Given the description of an element on the screen output the (x, y) to click on. 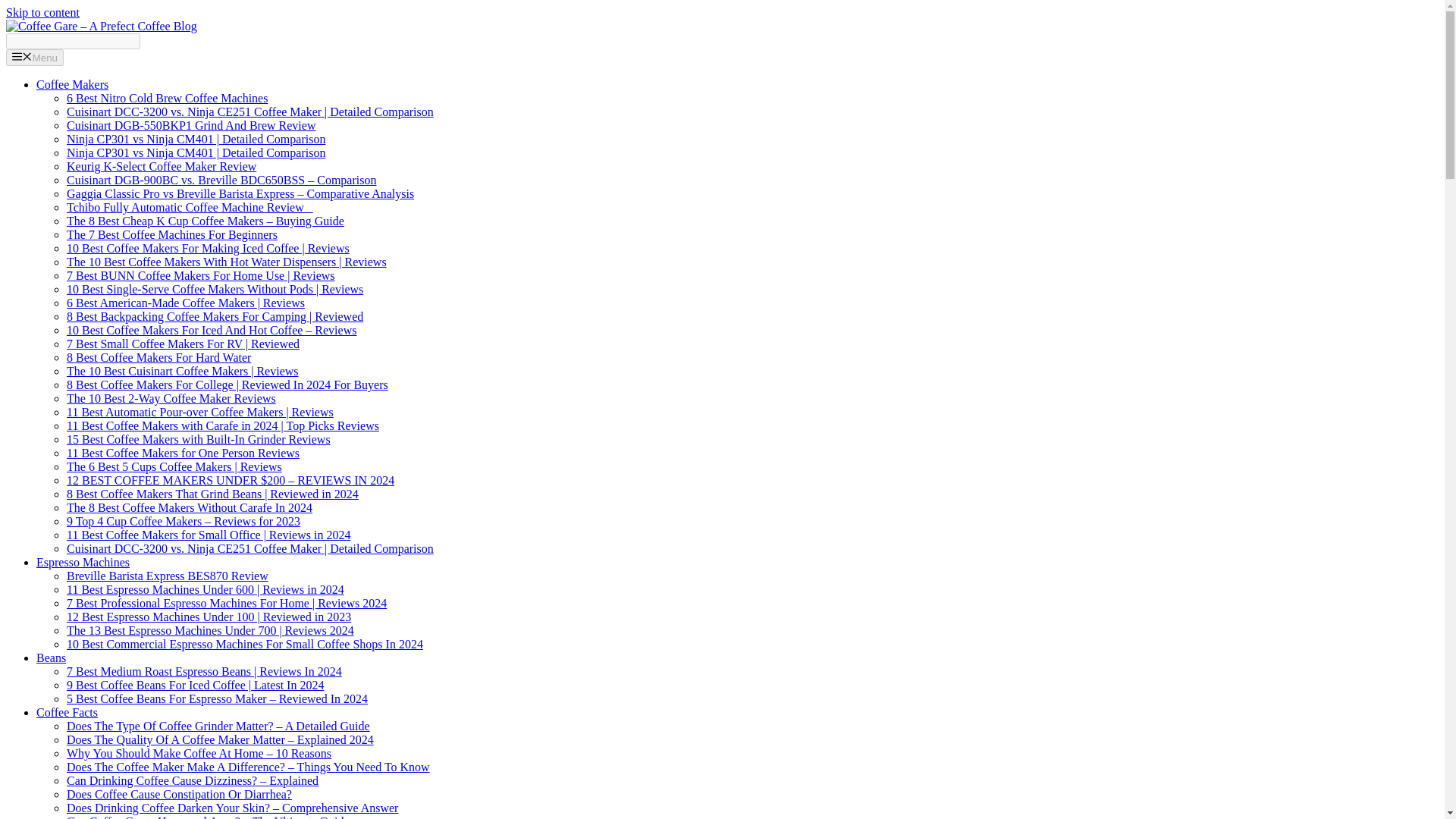
Tchibo Fully Automatic Coffee Machine Review    (189, 206)
The 10 Best 2-Way Coffee Maker Reviews (171, 398)
8 Best Coffee Makers For Hard Water (158, 357)
11 Best Coffee Makers for One Person Reviews (182, 452)
Keurig K-Select Coffee Maker Review (161, 165)
Menu (34, 57)
Search (72, 41)
Espresso Machines (82, 562)
15 Best Coffee Makers with Built-In Grinder Reviews (198, 439)
Skip to content (42, 11)
Breville Barista Express BES870 Review (166, 575)
Skip to content (42, 11)
The 8 Best Coffee Makers Without Carafe In 2024 (189, 507)
Cuisinart DGB-550BKP1 Grind And Brew Review (190, 124)
The 7 Best Coffee Machines For Beginners (172, 234)
